Given the description of an element on the screen output the (x, y) to click on. 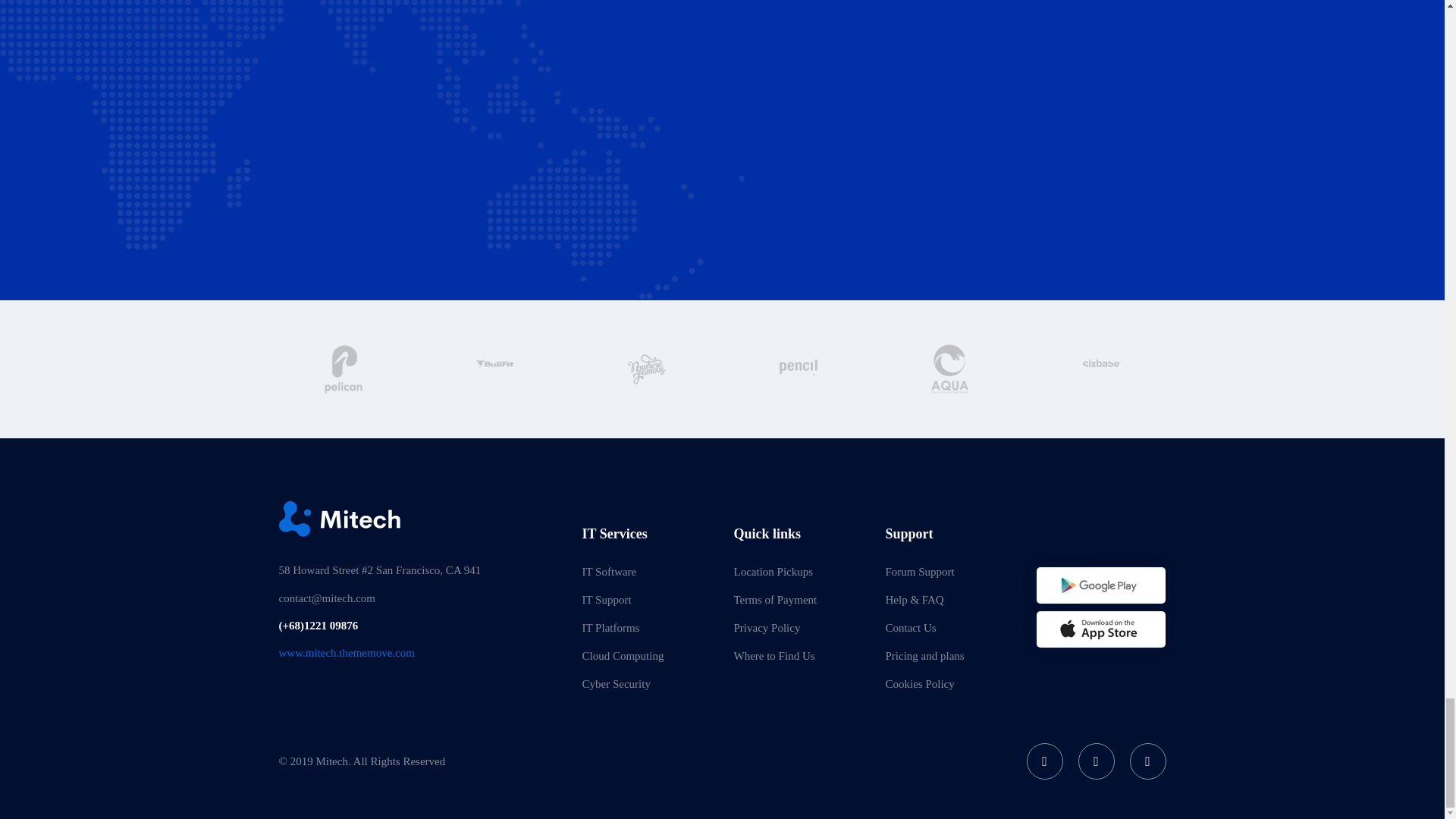
Client Logo 06 (494, 369)
Client Logo 04 (1102, 369)
Client Logo 01 (646, 368)
Client Logo 02 (797, 369)
